Given the description of an element on the screen output the (x, y) to click on. 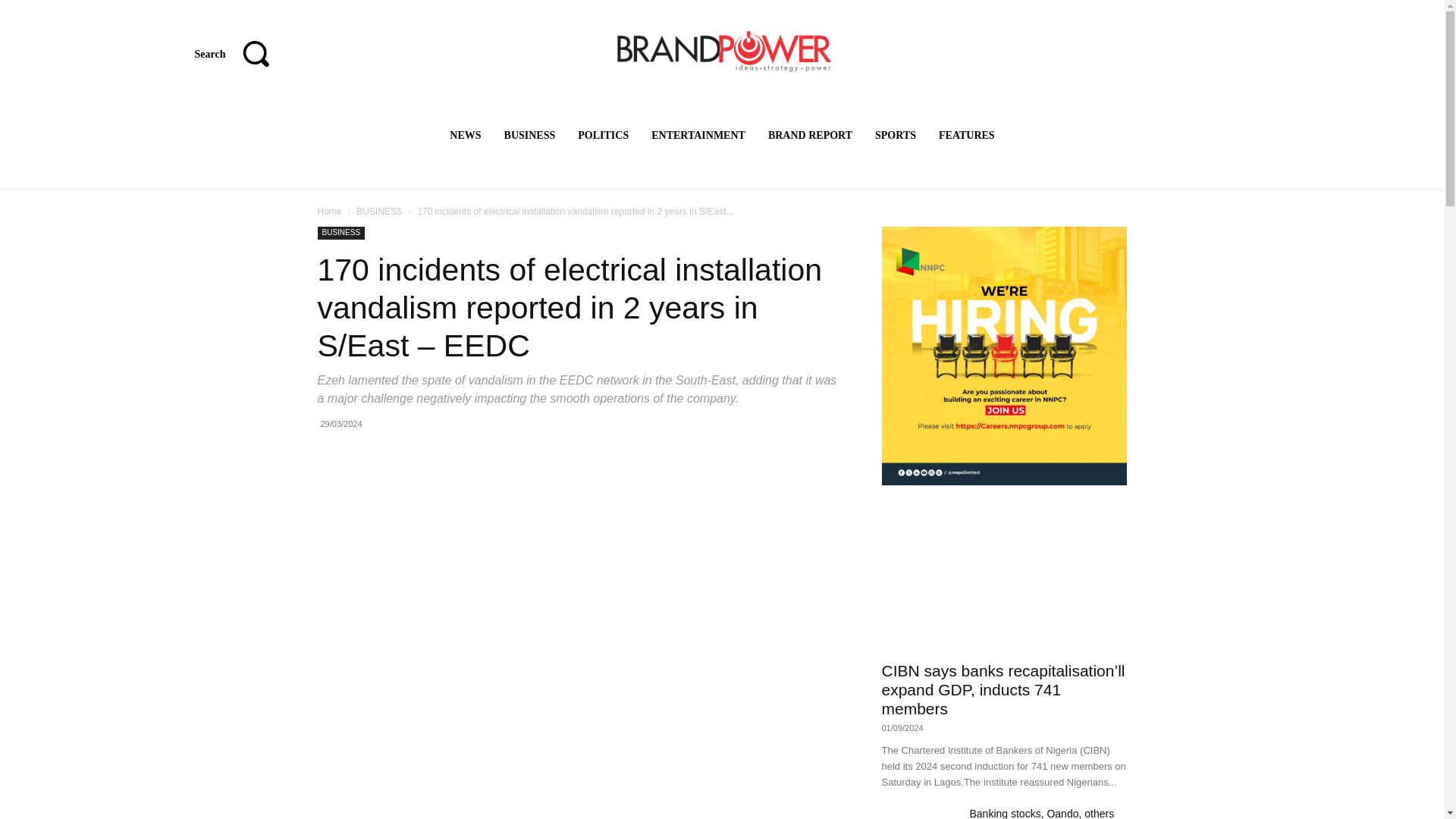
View all posts in BUSINESS (379, 211)
Search (239, 52)
NEWS (464, 135)
BRAND REPORT (810, 135)
POLITICS (603, 135)
FEATURES (967, 135)
BUSINESS (529, 135)
SPORTS (895, 135)
ENTERTAINMENT (697, 135)
